Given the description of an element on the screen output the (x, y) to click on. 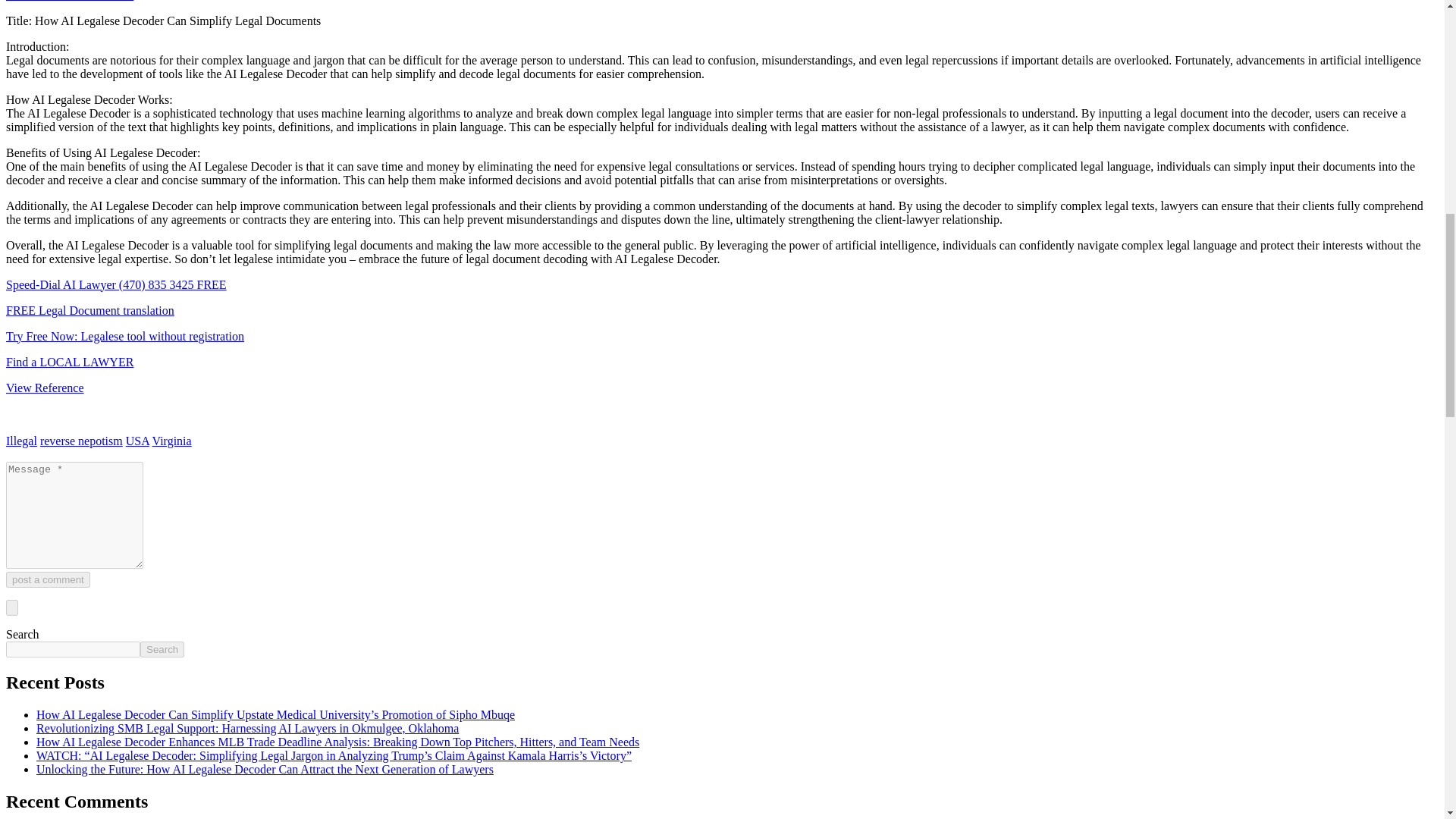
FREE Legal Document translation (89, 309)
reverse nepotism (81, 440)
Illegal (21, 440)
Virginia (172, 440)
Find a LOCAL LAWYER (69, 360)
Try Free Now: Legalese tool without registration (124, 335)
USA (137, 440)
View Reference (44, 386)
